Given the description of an element on the screen output the (x, y) to click on. 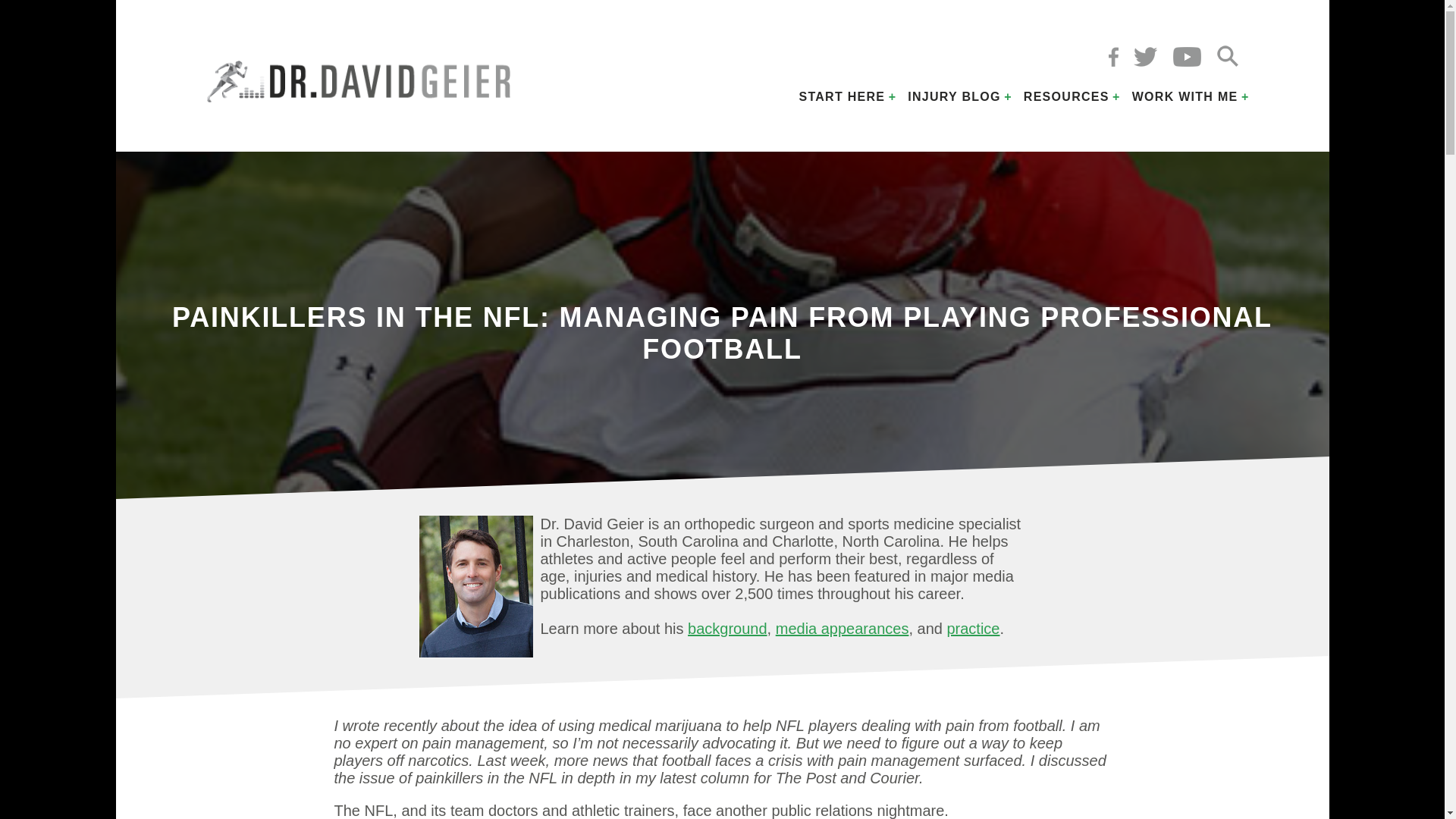
START HERE (841, 96)
RESOURCES (1066, 96)
background (727, 628)
WORK WITH ME (1185, 96)
INJURY BLOG (954, 96)
practice (972, 628)
media appearances (842, 628)
